Given the description of an element on the screen output the (x, y) to click on. 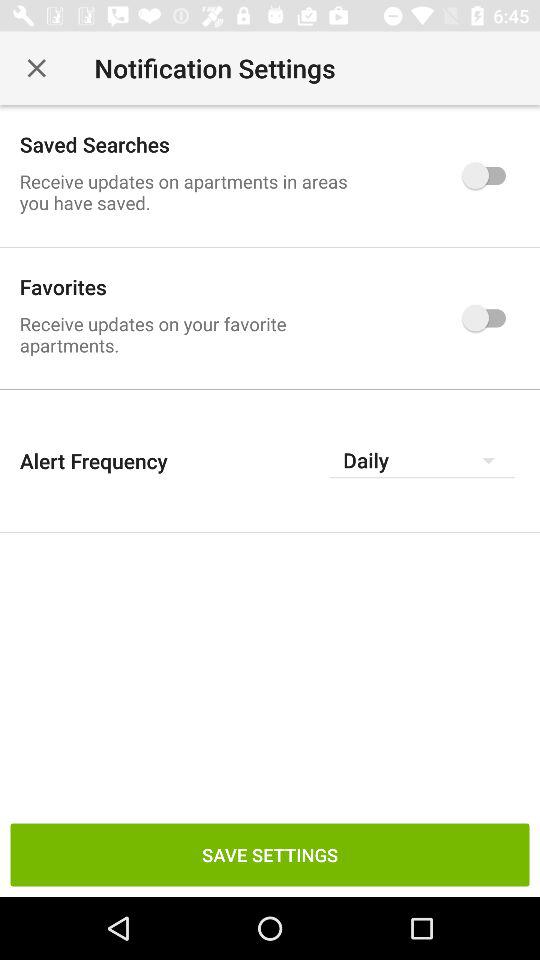
launch icon at the top left corner (36, 68)
